Given the description of an element on the screen output the (x, y) to click on. 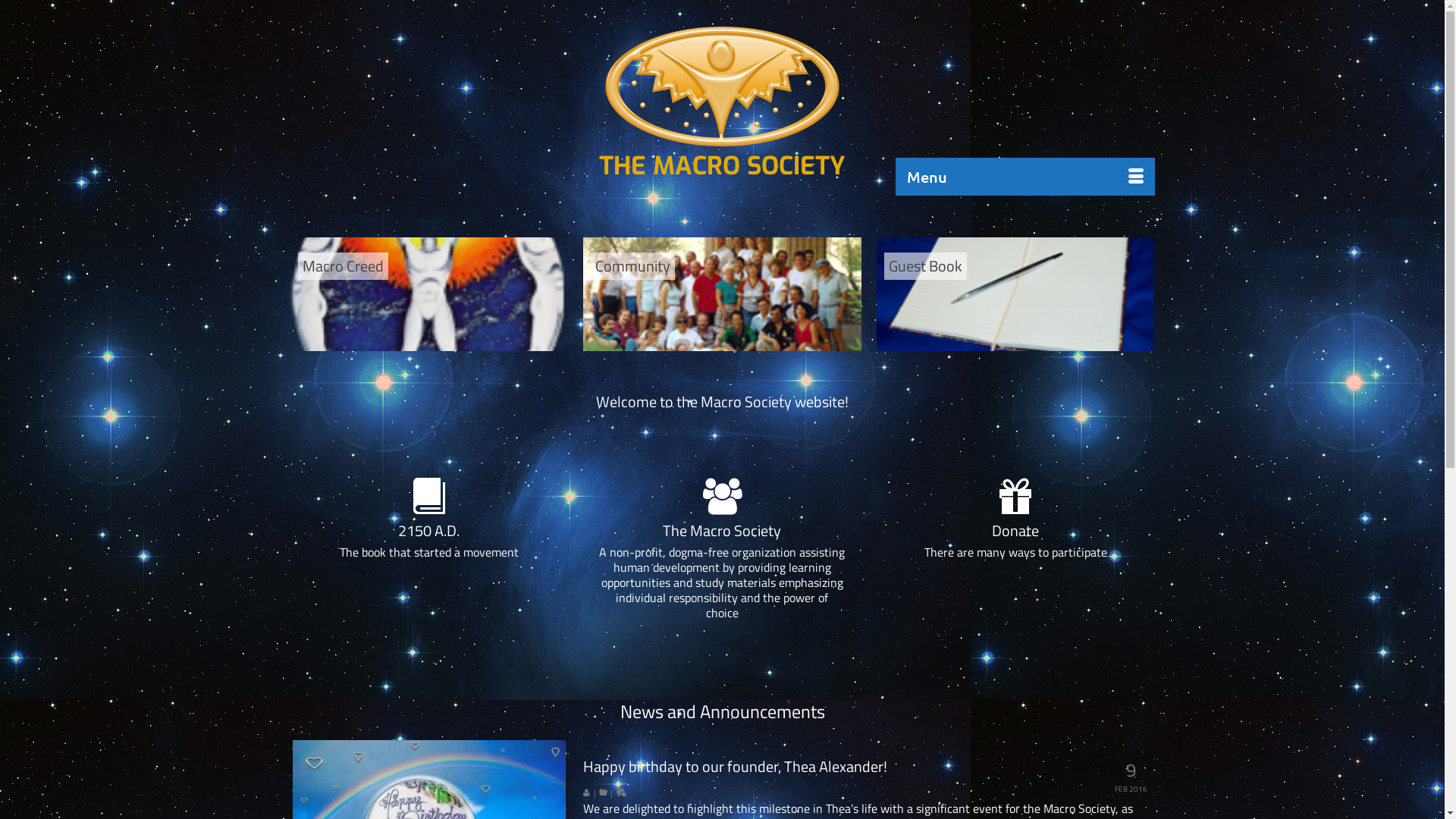
Happy birthday to our founder, Thea Alexander! Element type: text (868, 766)
Menu Element type: text (1024, 176)
The Macro Society Element type: hover (721, 86)
2150 A.D.
The book that started a movement Element type: text (428, 549)
Macro Creed Element type: text (428, 294)
Community Element type: text (722, 294)
Donate
There are many ways to participate Element type: text (1015, 549)
Guest Book Element type: text (1015, 294)
